Given the description of an element on the screen output the (x, y) to click on. 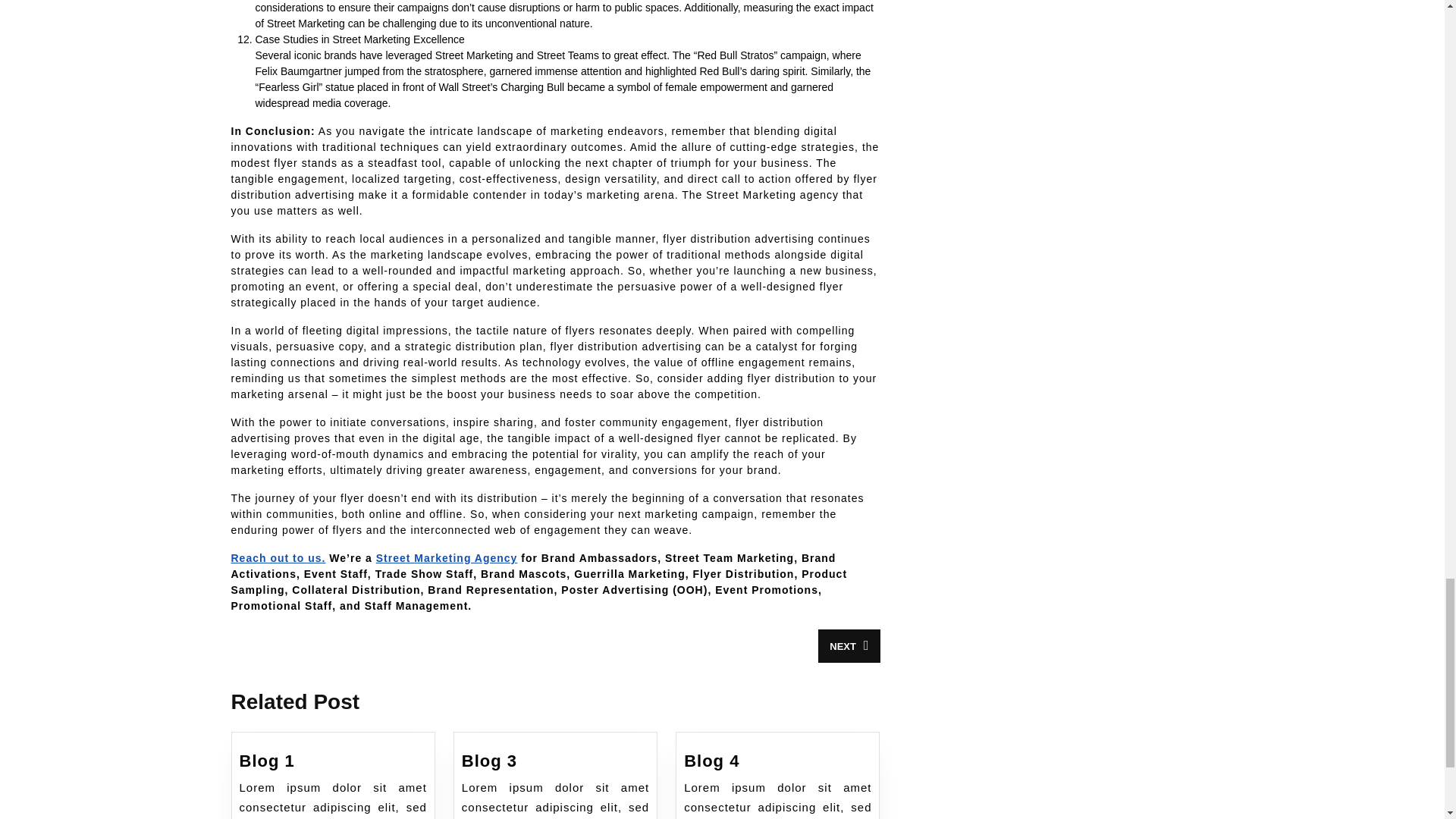
Reach out to us. (267, 760)
Street Marketing Agency (277, 558)
